Given the description of an element on the screen output the (x, y) to click on. 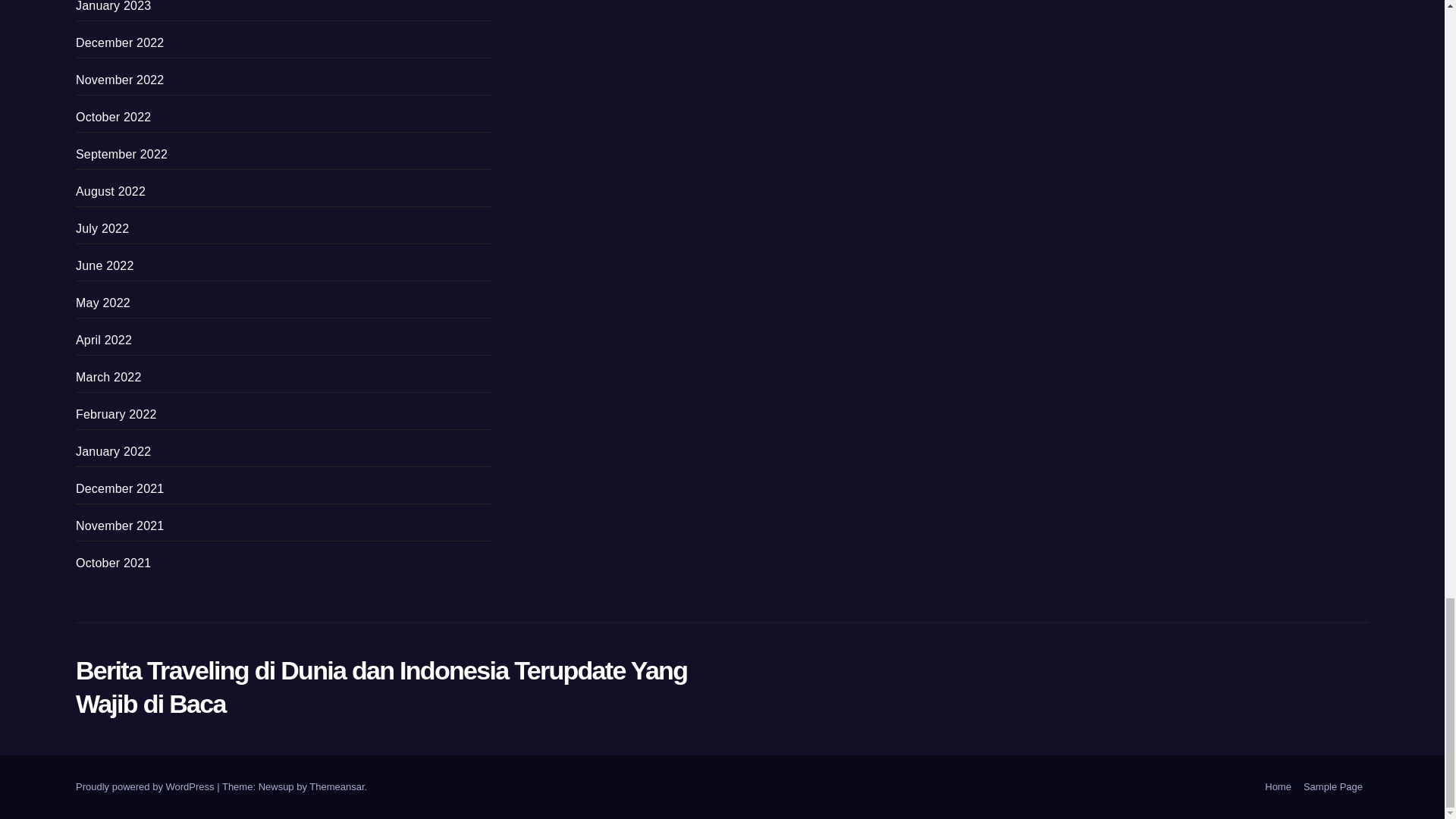
Home (1278, 786)
